Given the description of an element on the screen output the (x, y) to click on. 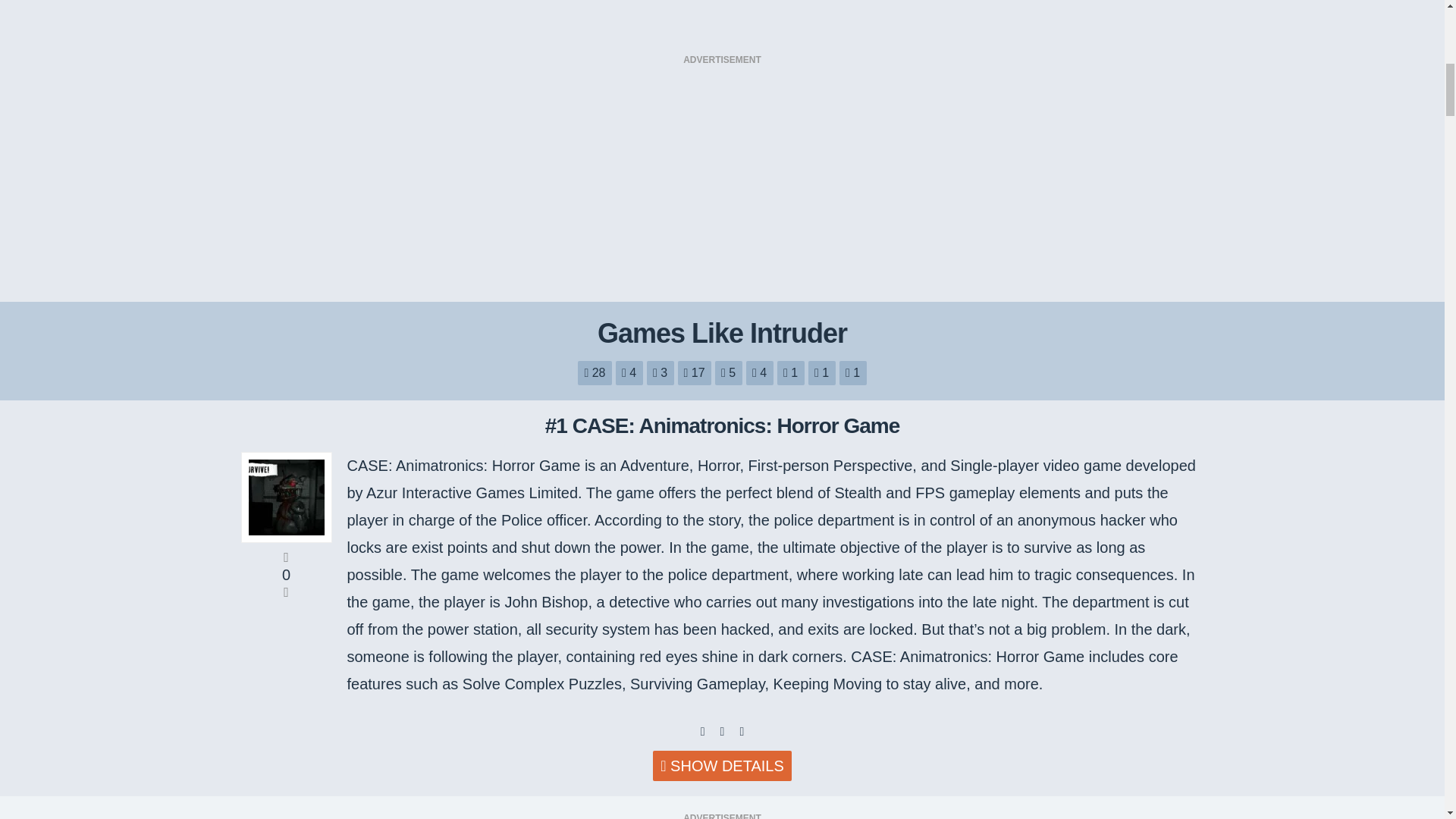
Games Like Intruder for PC (694, 372)
Games Like Intruder for PS4 (821, 372)
17 (694, 372)
Games Like Intruder for iOS (659, 372)
Games Like Intruder for Android (629, 372)
1 (791, 372)
Games Like Intruder for Mac OS (728, 372)
28 (594, 372)
Games Like Intruder for PS3 (791, 372)
4 (629, 372)
1 (853, 372)
1 (821, 372)
Games Like Intruder on Steam (853, 372)
Games Like Intruder for PS2 (759, 372)
